Given the description of an element on the screen output the (x, y) to click on. 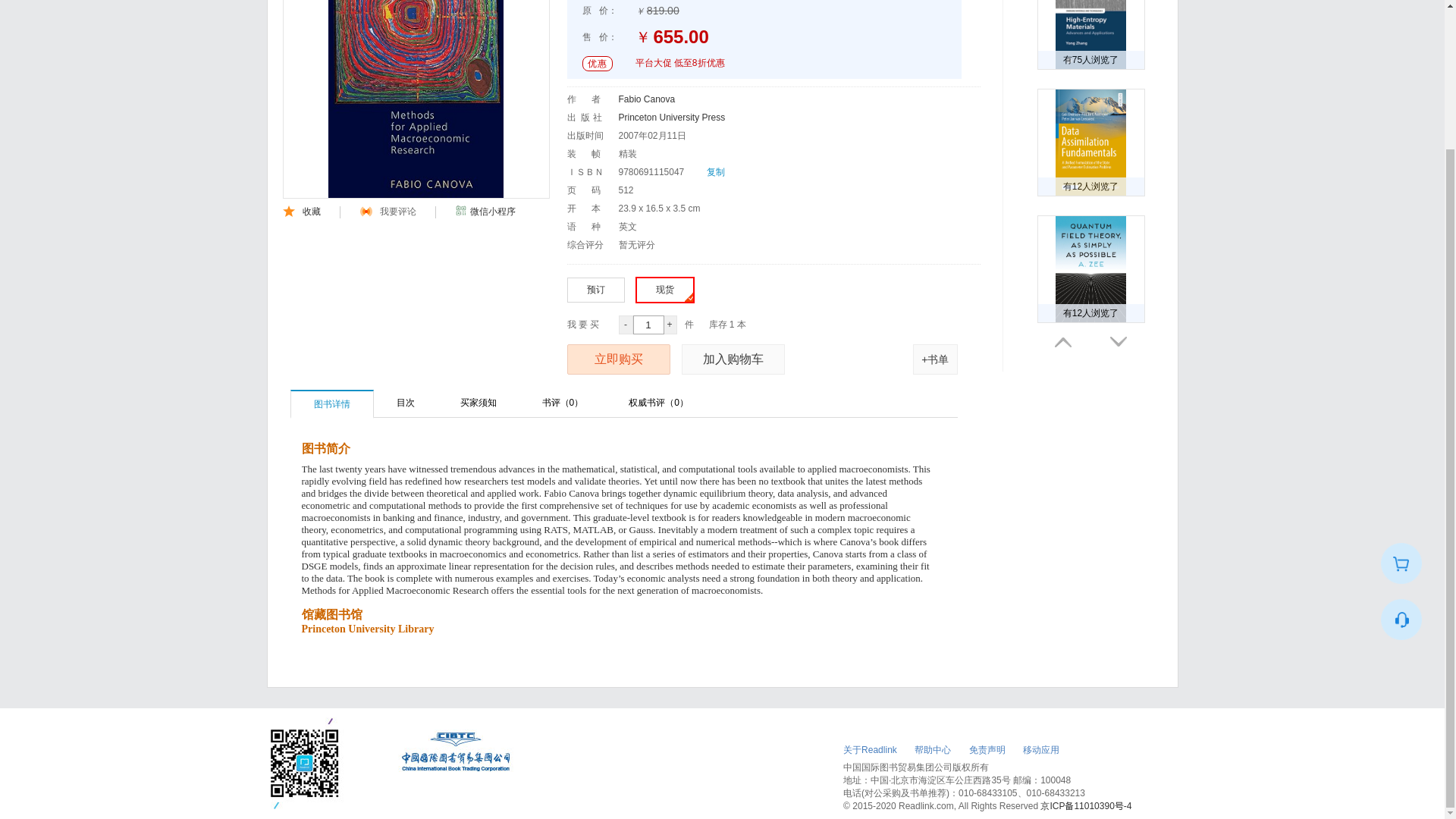
Princeton University Press (671, 117)
Fabio Canova (646, 99)
1 (647, 324)
- (625, 324)
